Given the description of an element on the screen output the (x, y) to click on. 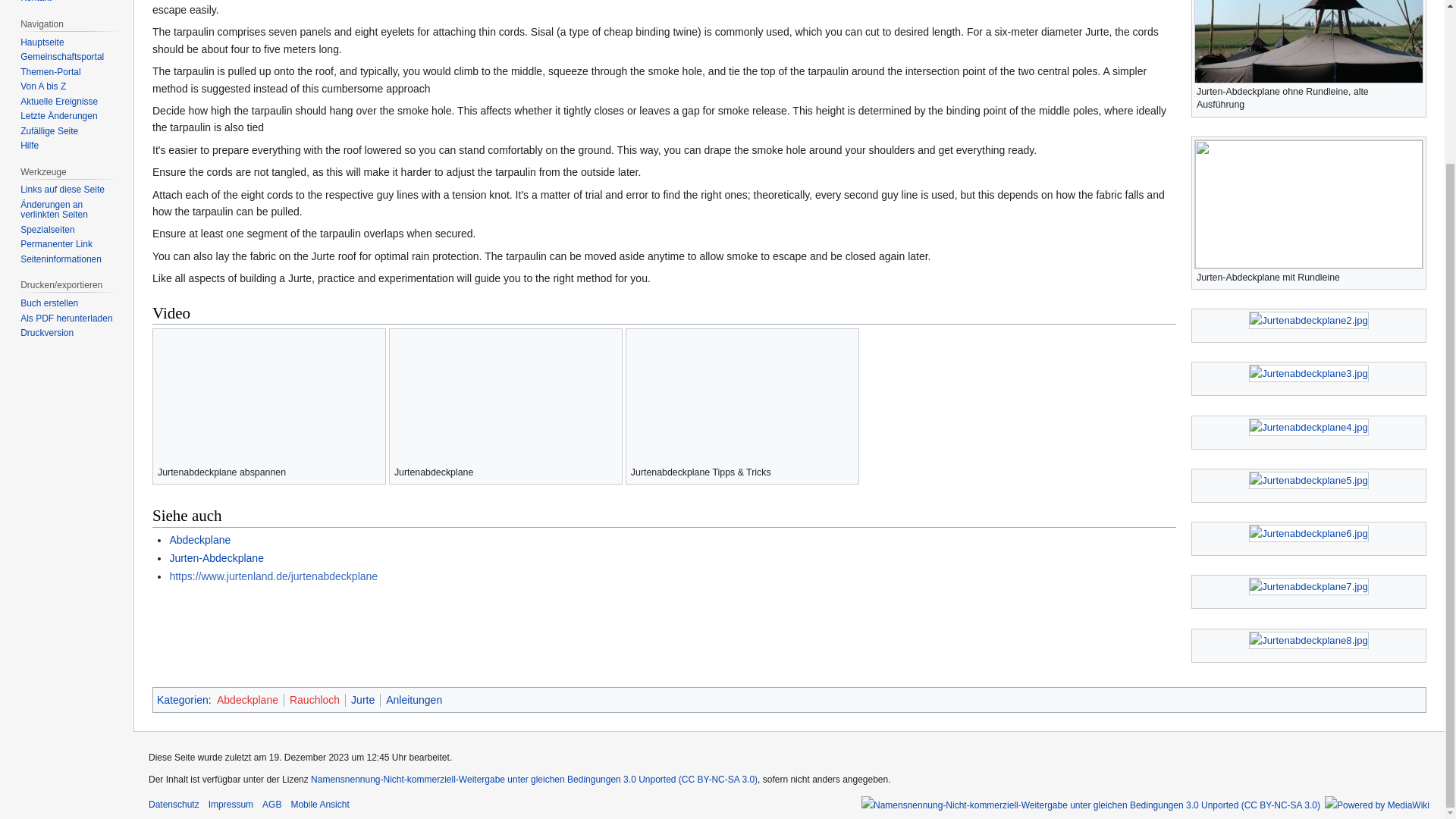
Rauchloch (314, 699)
Jurten-Abdeckplane (215, 558)
Abdeckplane (199, 539)
Play video (742, 395)
Play video (505, 395)
Anleitungen (413, 699)
Abdeckplane (247, 699)
Jurten-Abdeckplane (215, 558)
Kategorien (182, 699)
Spezial:Kategorien (182, 699)
Abdeckplane (199, 539)
Play video (268, 395)
Jurte (362, 699)
